Given the description of an element on the screen output the (x, y) to click on. 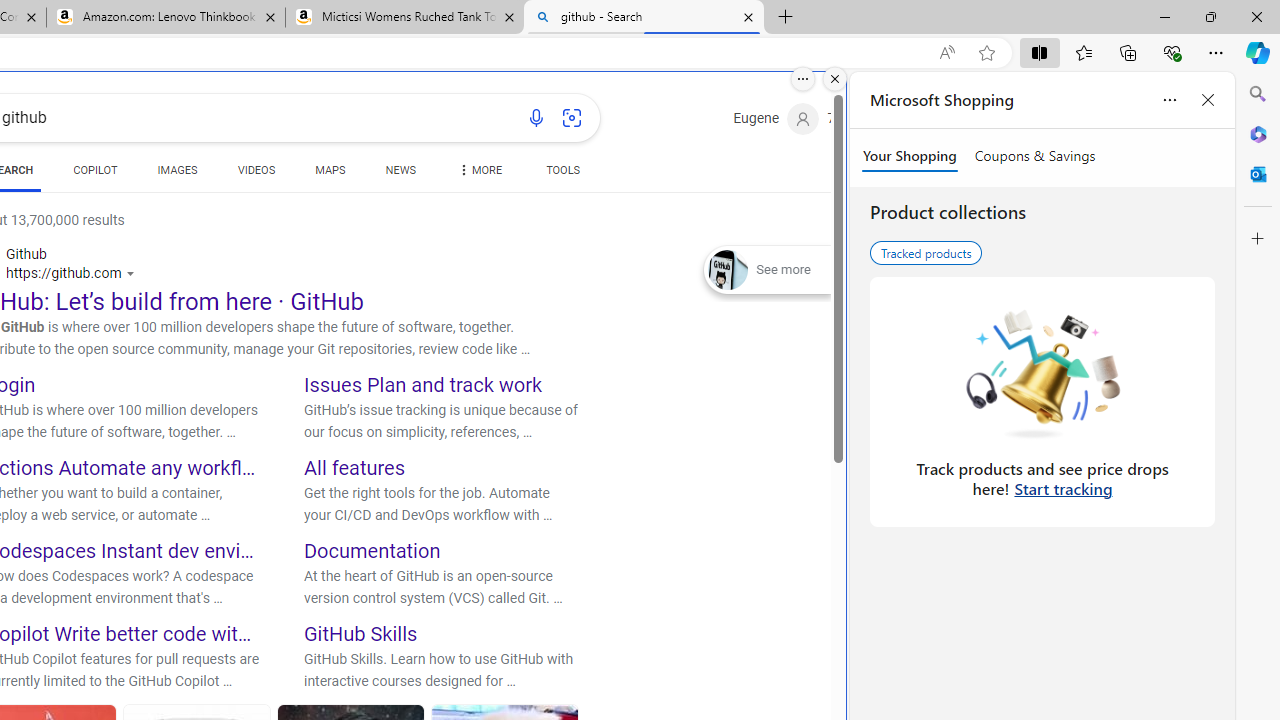
Search using an image (572, 117)
github - Search (643, 17)
Eugene (776, 119)
TOOLS (562, 173)
NEWS (400, 173)
MAPS (330, 170)
TOOLS (562, 170)
COPILOT (95, 170)
Issues Plan and track work (423, 384)
